Given the description of an element on the screen output the (x, y) to click on. 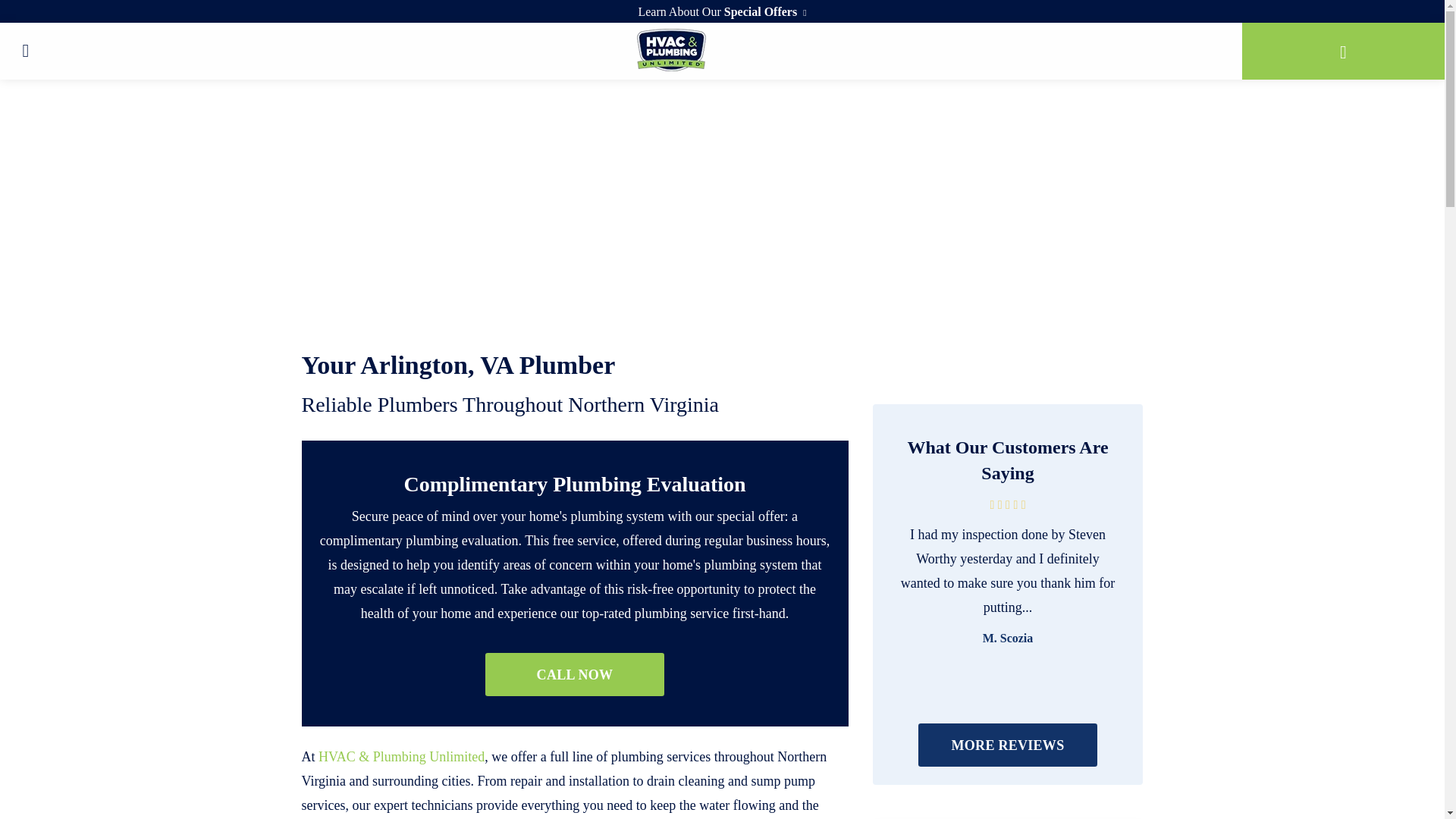
Learn About Our Special Offers (721, 11)
